Given the description of an element on the screen output the (x, y) to click on. 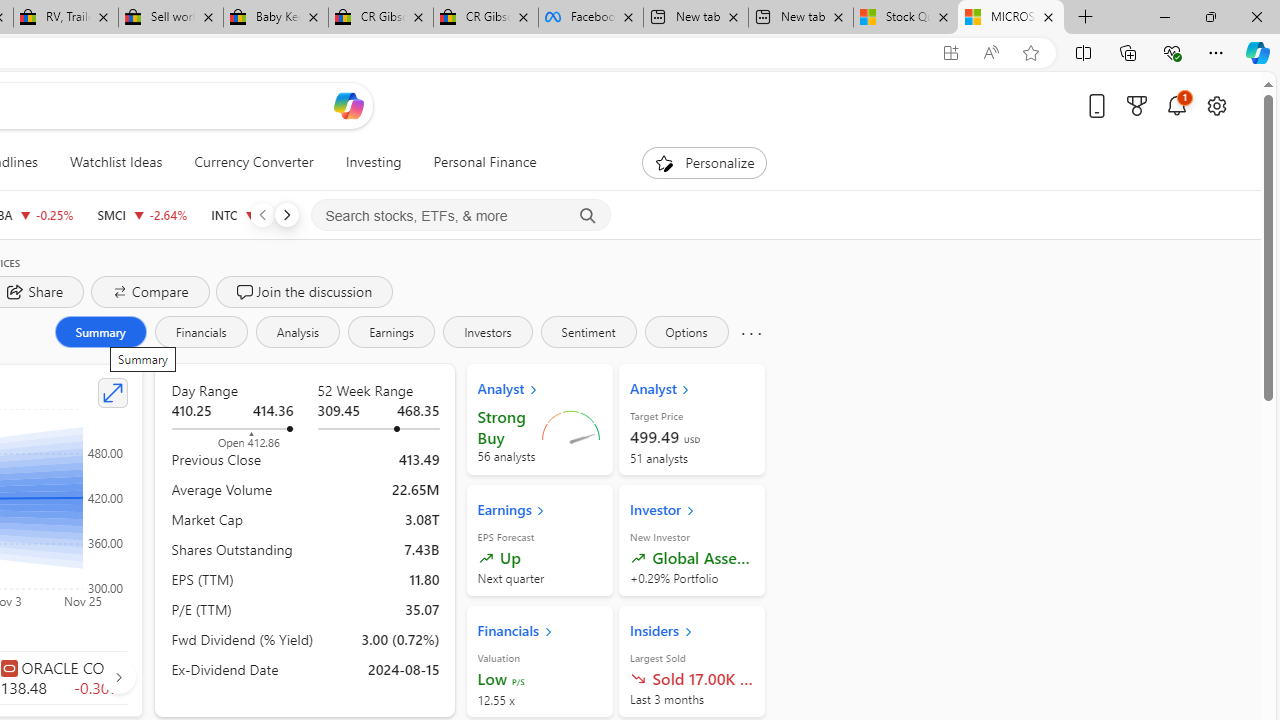
Collections (1128, 52)
Microsoft rewards (1137, 105)
Open settings (1216, 105)
Open Copilot (347, 105)
Previous (262, 214)
Sentiment (588, 331)
Settings and more (Alt+F) (1215, 52)
Earnings (392, 331)
Personal Finance (484, 162)
Watchlist Ideas (115, 162)
Currency Converter (253, 162)
